Given the description of an element on the screen output the (x, y) to click on. 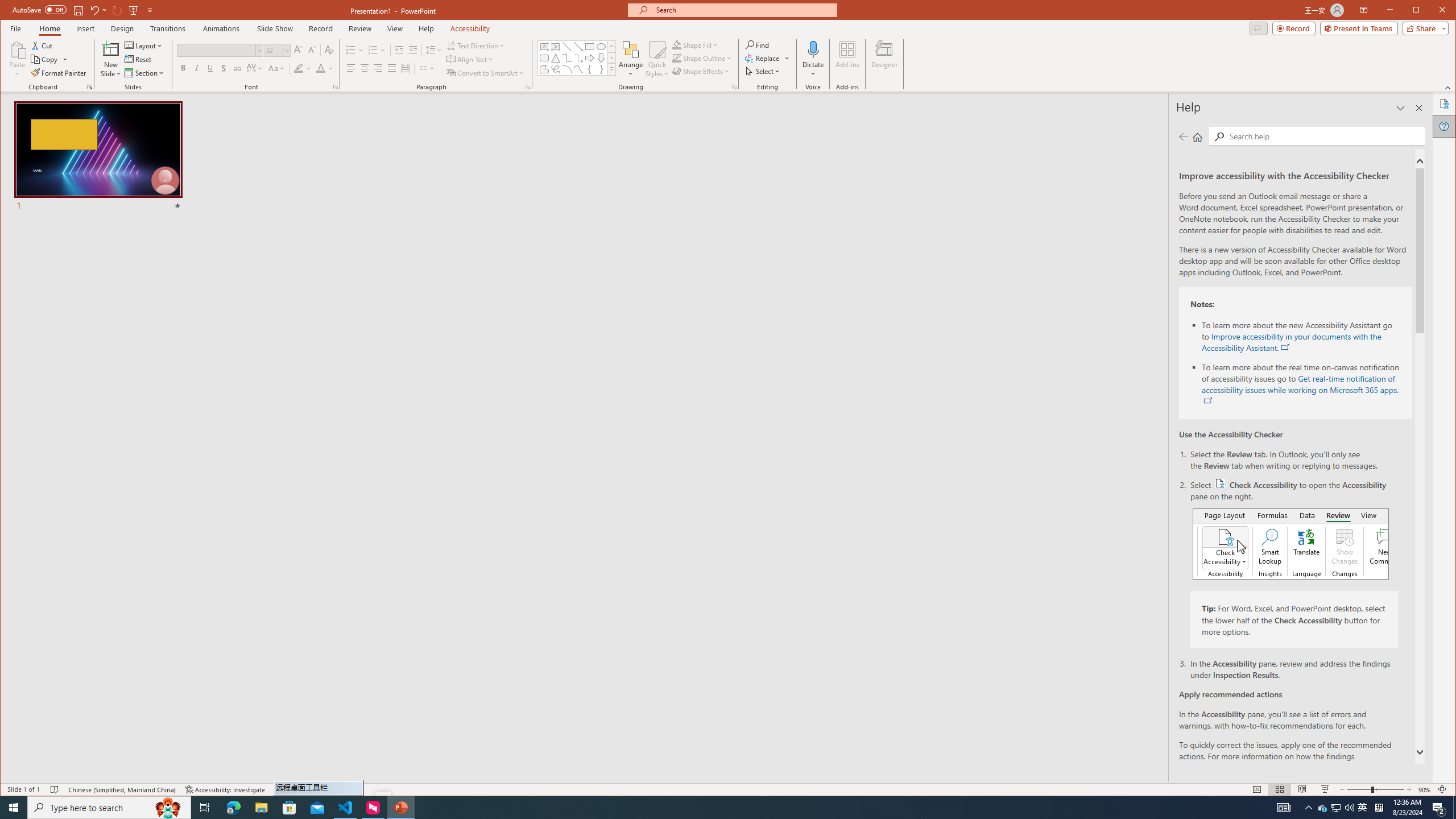
Text Highlight Color (302, 68)
Shape Fill Orange, Accent 2 (676, 44)
Designer (884, 59)
Visual Studio Code - 1 running window (345, 807)
Microsoft Edge (233, 807)
Convert to SmartArt (485, 72)
Left Brace (589, 69)
AutomationID: ShapesInsertGallery (577, 57)
